Given the description of an element on the screen output the (x, y) to click on. 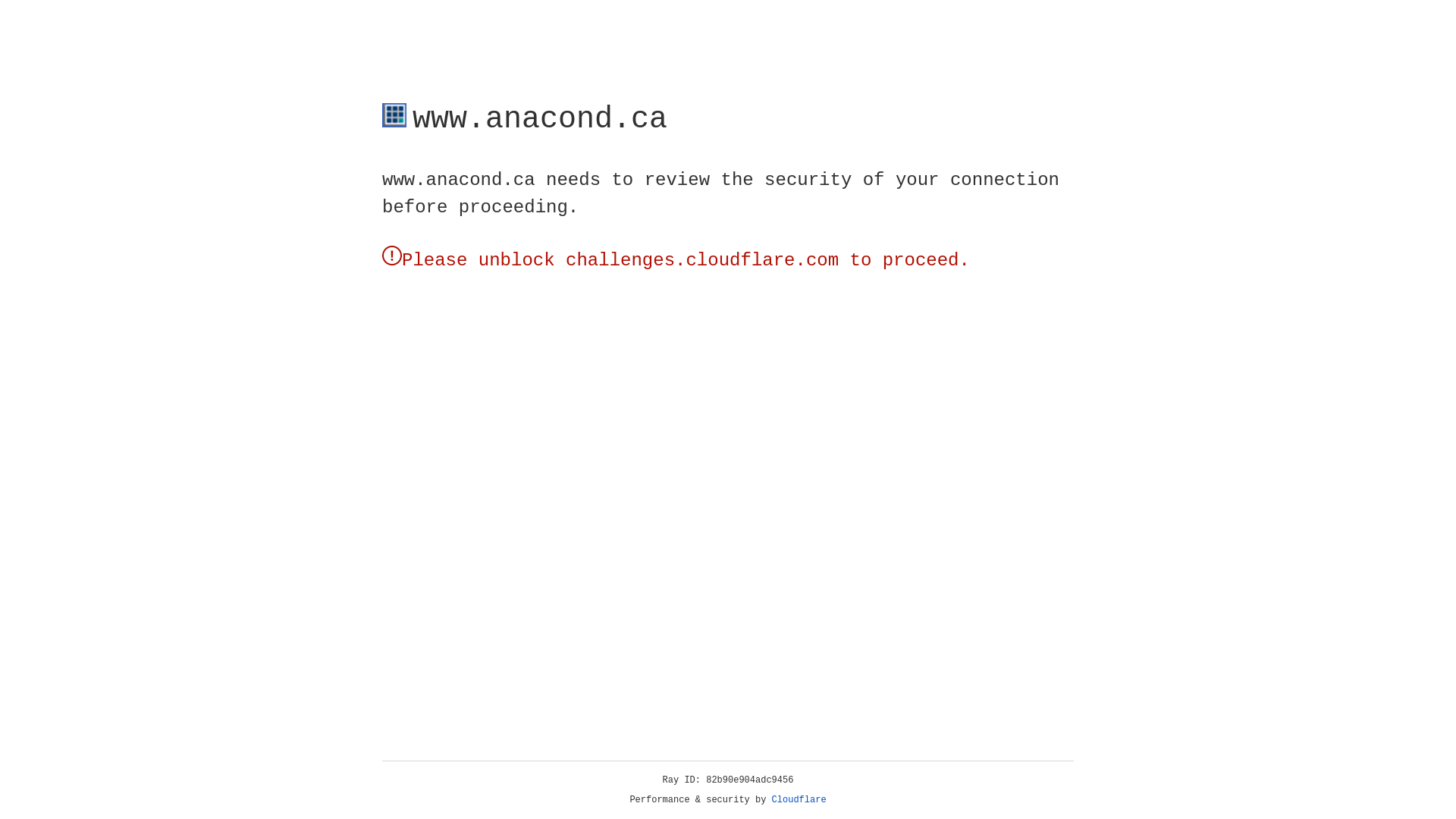
Cloudflare Element type: text (798, 799)
